Given the description of an element on the screen output the (x, y) to click on. 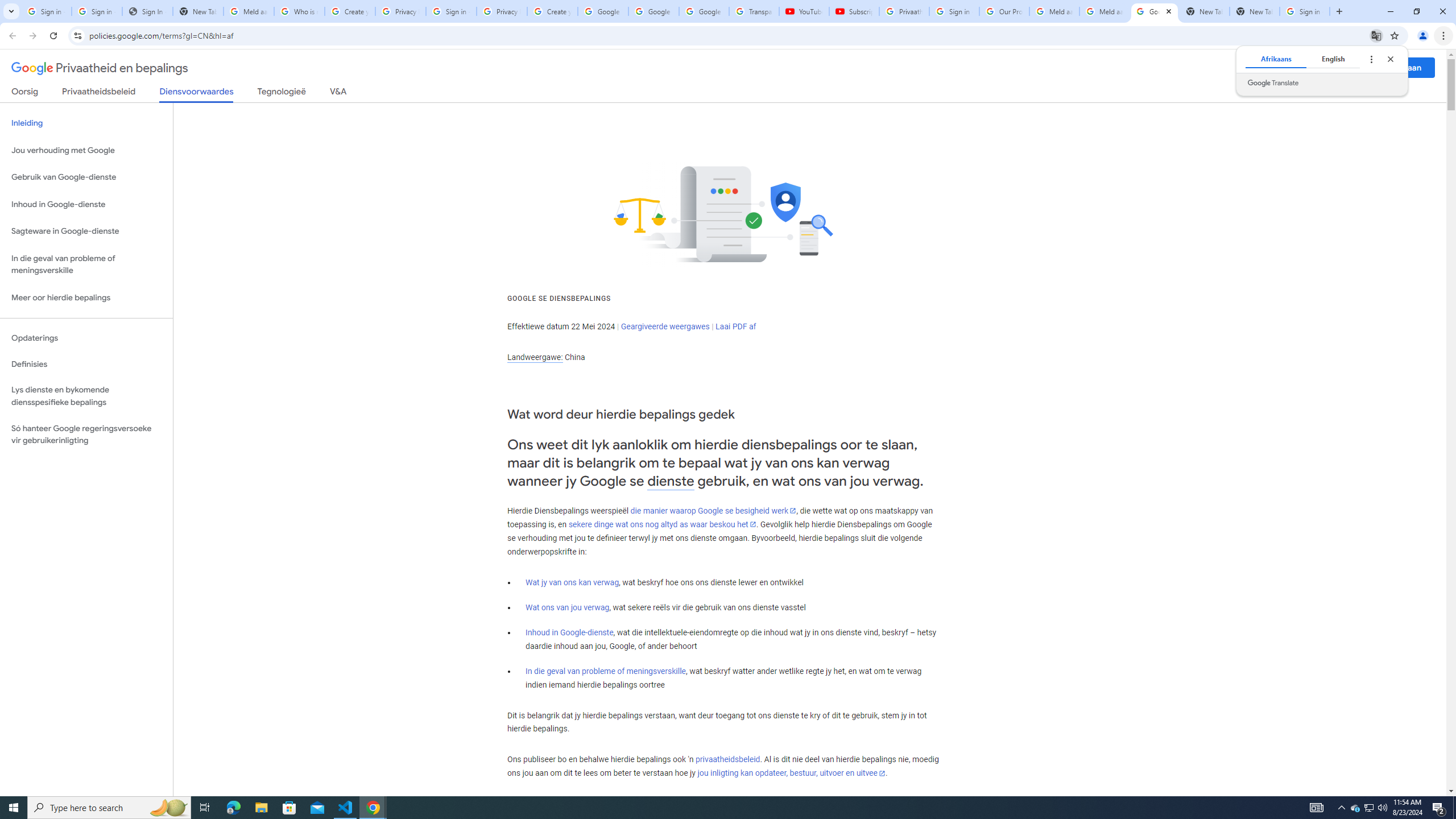
dienste (670, 480)
Lys dienste en bykomende diensspesifieke bepalings (86, 396)
Opdaterings (86, 338)
Laai PDF af (735, 326)
Jou verhouding met Google (86, 150)
Who is my administrator? - Google Account Help (299, 11)
Subscriptions - YouTube (853, 11)
